Given the description of an element on the screen output the (x, y) to click on. 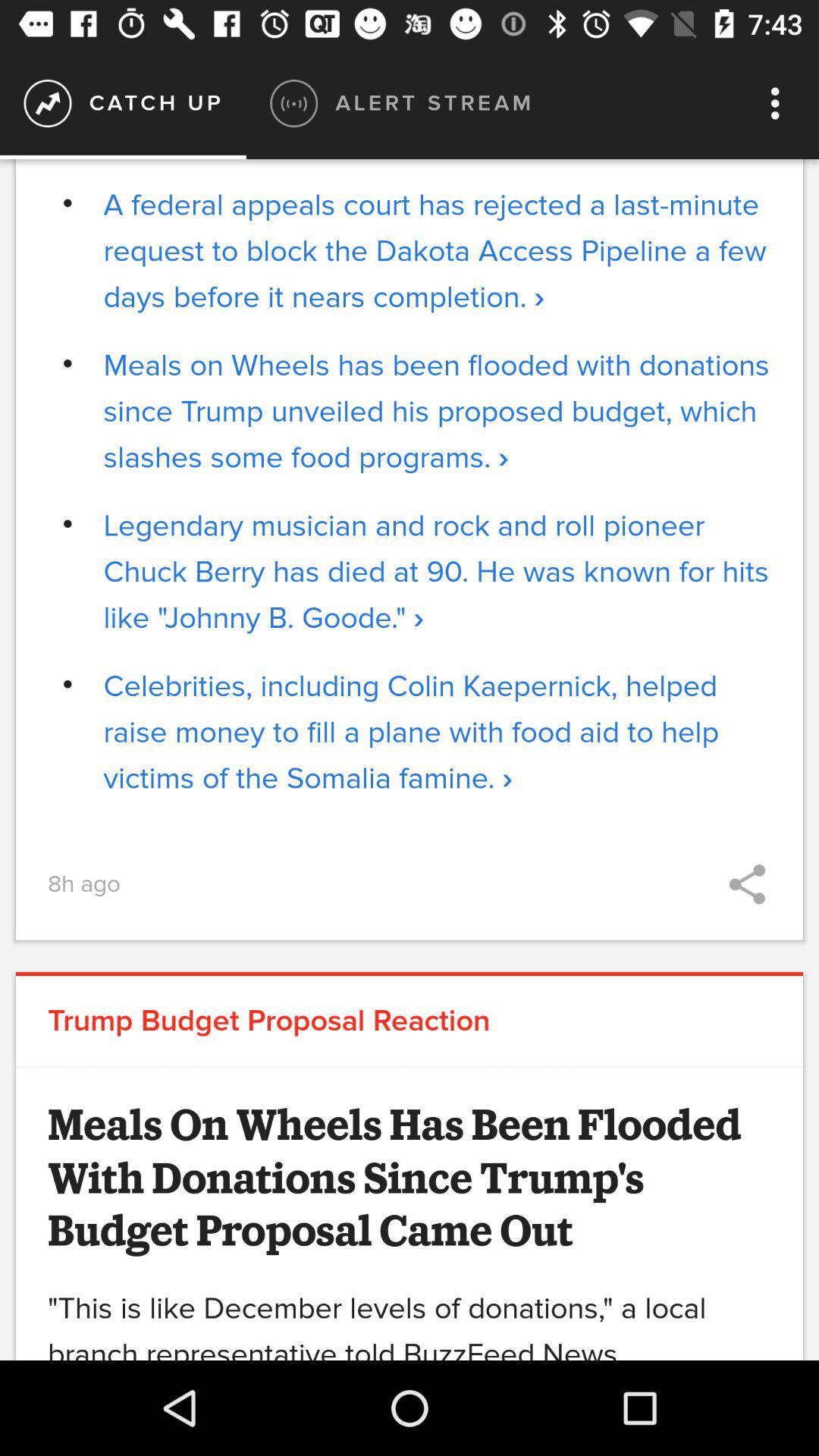
press item to the right of alert stream icon (779, 103)
